Given the description of an element on the screen output the (x, y) to click on. 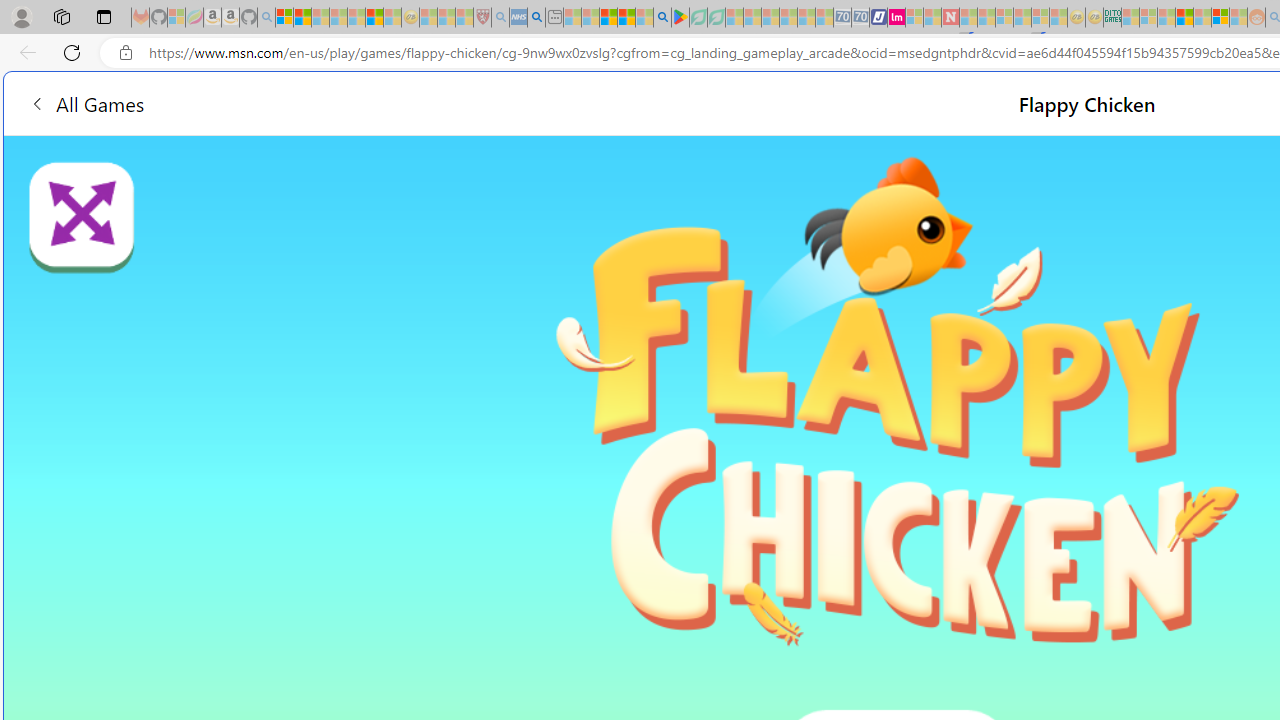
Jobs - lastminute.com Investor Portal (896, 17)
Pets - MSN (626, 17)
utah sues federal government - Search (536, 17)
